Given the description of an element on the screen output the (x, y) to click on. 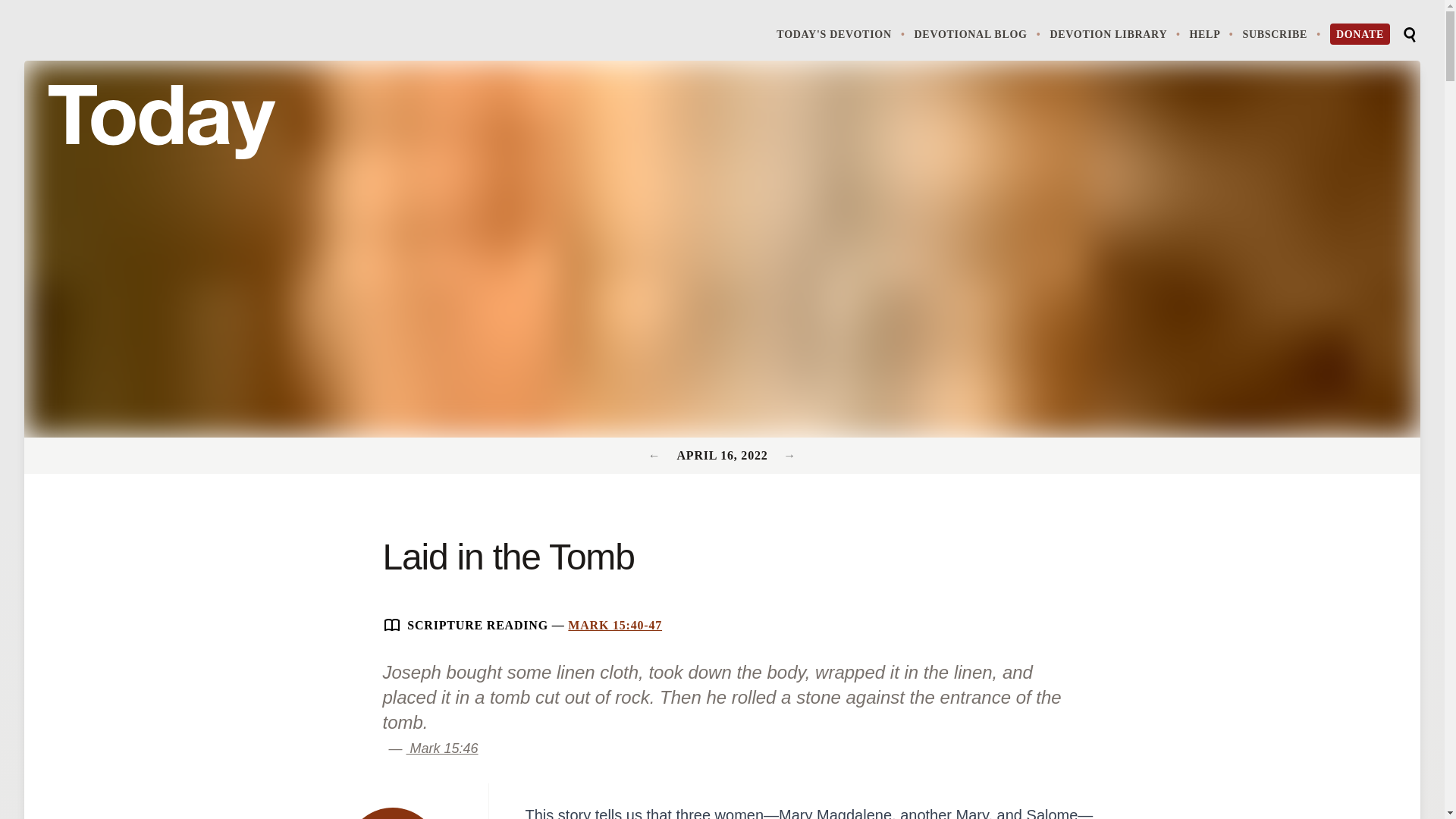
Previous Devotion: April 17, 2022 (789, 454)
SUBSCRIBE (1282, 34)
DEVOTIONAL BLOG (392, 813)
TODAY'S DEVOTION (978, 34)
HELP (841, 34)
DONATE (1212, 34)
Search (1360, 34)
MARK 15:40-47 (1409, 34)
Previous Devotion: April 15, 2022 (614, 625)
DEVOTION LIBRARY (656, 454)
Mark 15:46 (1115, 34)
